Given the description of an element on the screen output the (x, y) to click on. 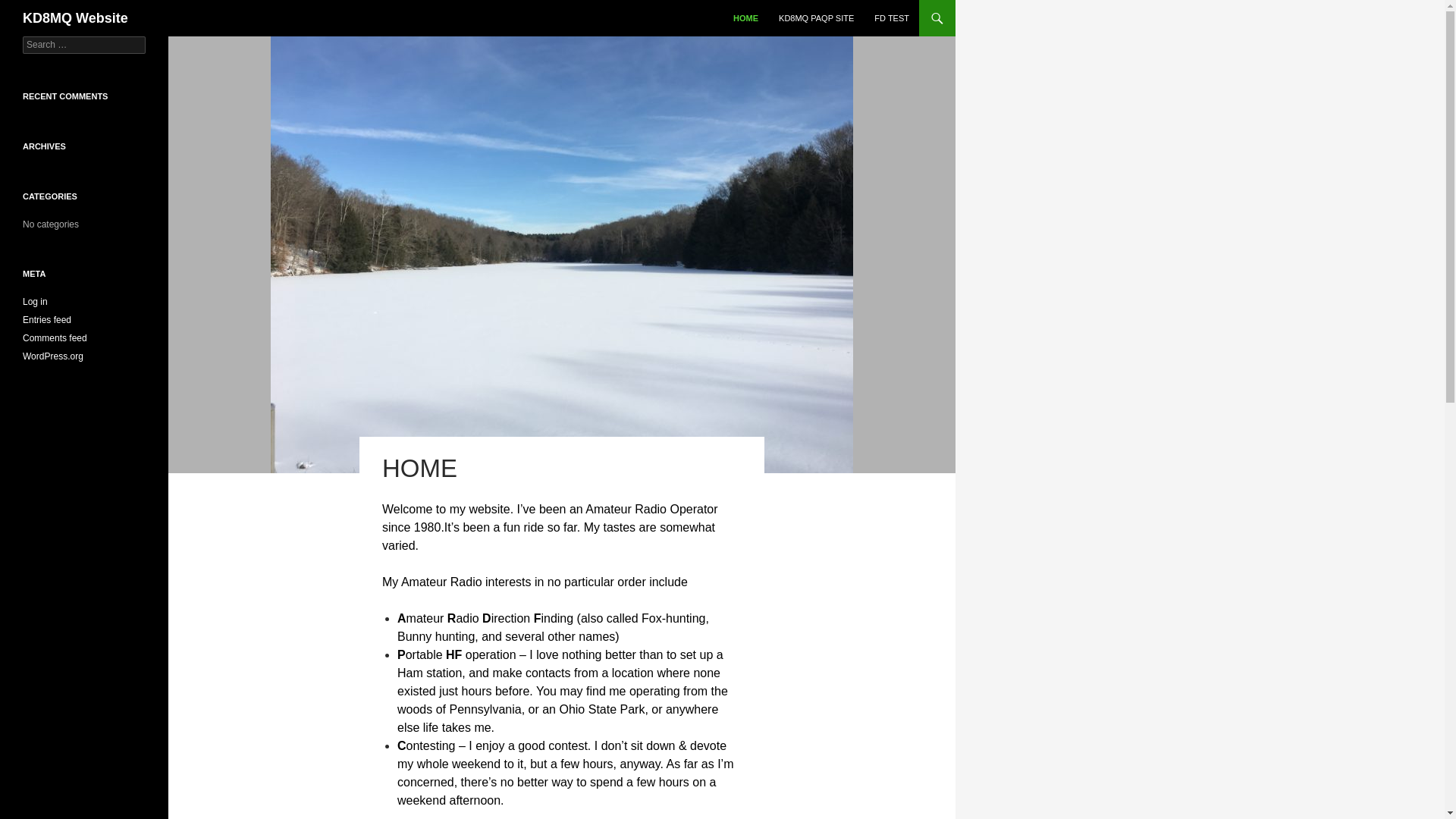
WordPress.org (52, 356)
KD8MQ PAQP SITE (816, 18)
HOME (745, 18)
KD8MQ Website (75, 18)
Search (30, 8)
Comments feed (55, 337)
FD TEST (891, 18)
Entries feed (47, 319)
Log in (35, 301)
